Given the description of an element on the screen output the (x, y) to click on. 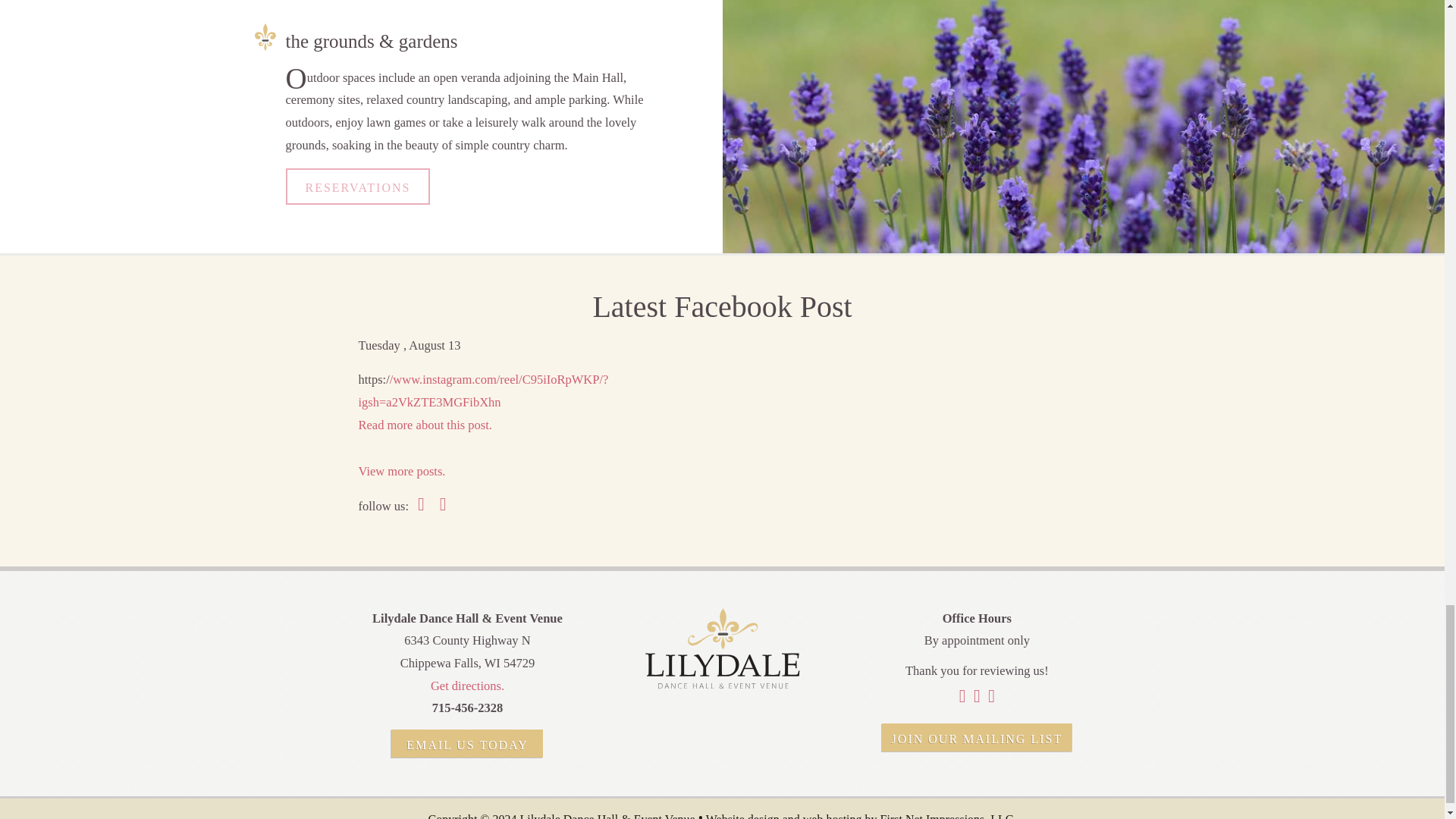
EMAIL US TODAY (467, 743)
715-456-2328 (467, 707)
View more posts. (401, 471)
Read more about this post. (425, 424)
JOIN OUR MAILING LIST (976, 737)
Get directions. (466, 685)
RESERVATIONS (357, 185)
